Given the description of an element on the screen output the (x, y) to click on. 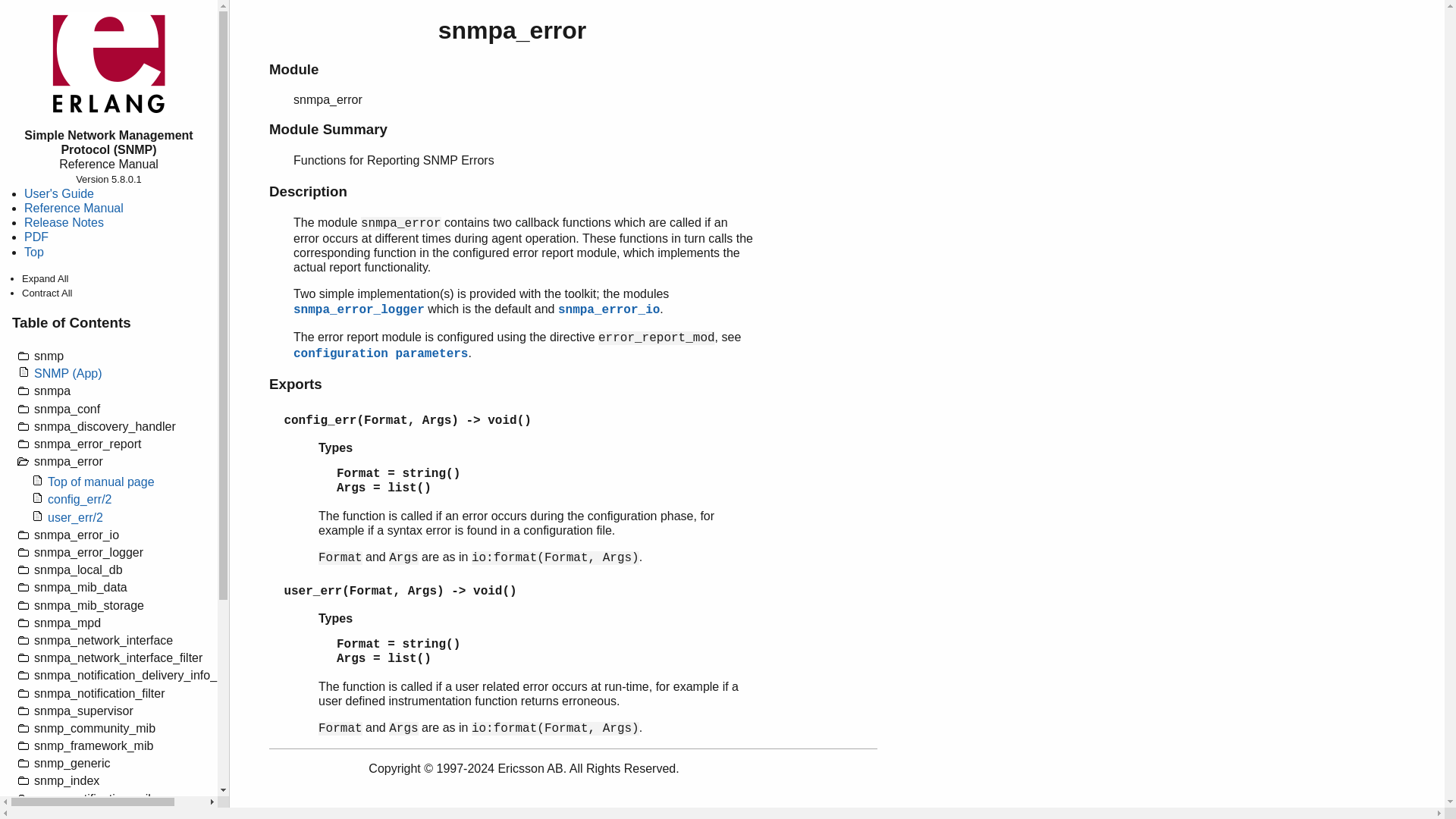
User's Guide (59, 193)
Reference Manual (73, 207)
Expand All (44, 278)
Top (33, 251)
PDF (36, 236)
Release Notes (63, 222)
Contract All (46, 292)
snmp  (119, 354)
